Given the description of an element on the screen output the (x, y) to click on. 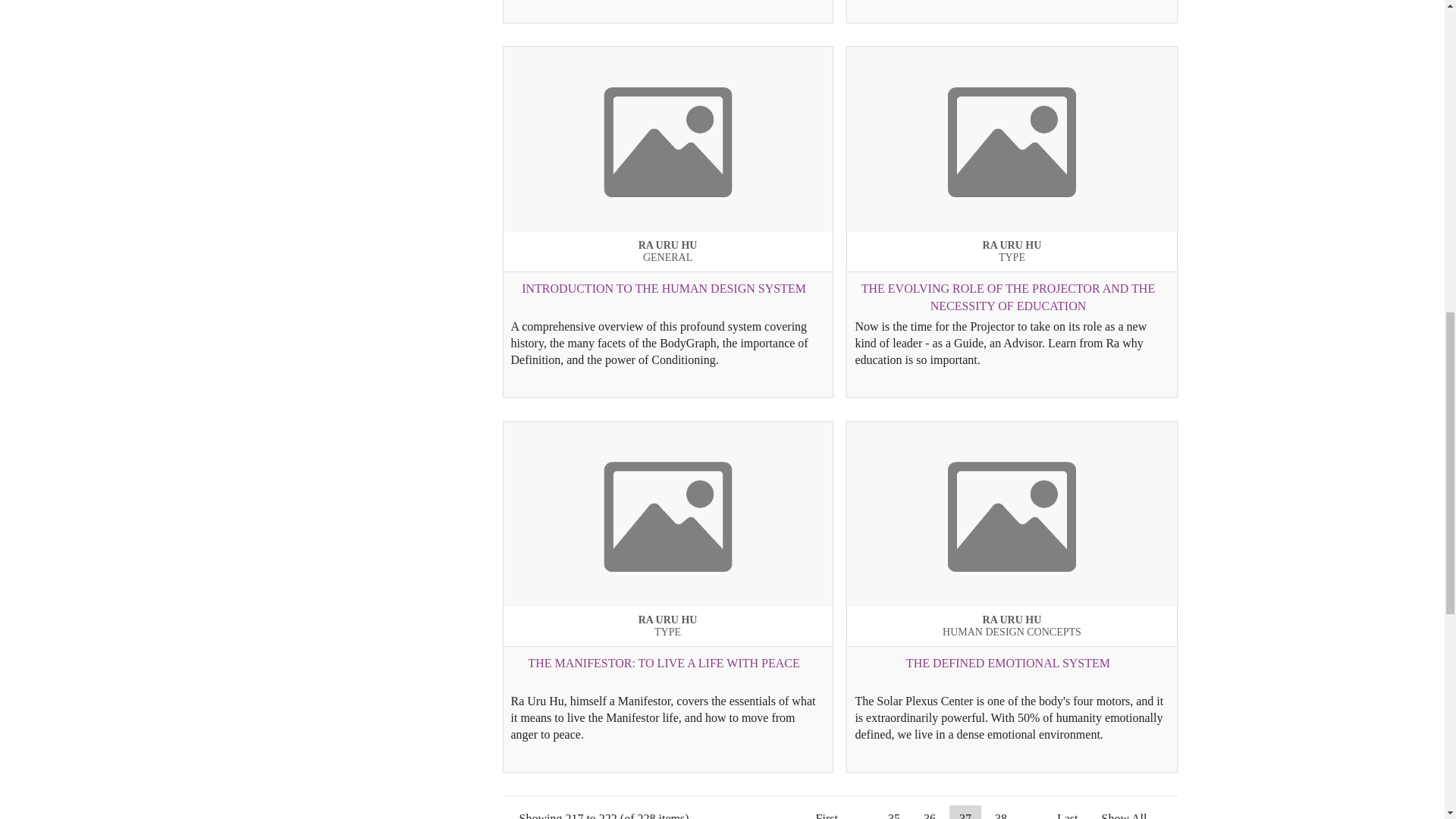
First (826, 812)
Next (1031, 812)
Last page (1066, 812)
Previous (863, 812)
